Given the description of an element on the screen output the (x, y) to click on. 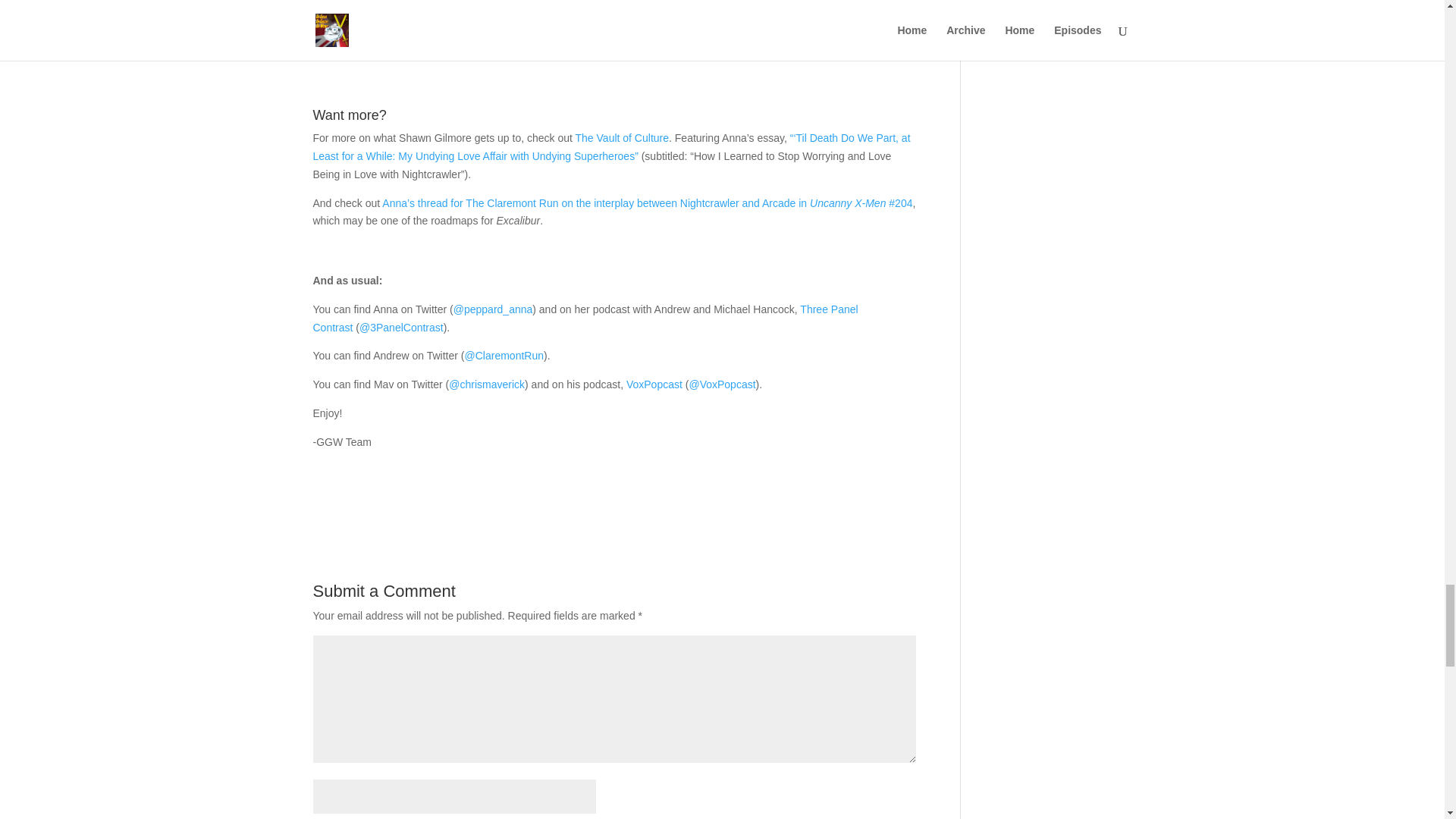
VoxPopcast (654, 384)
The Vault of Culture (621, 137)
Three Panel Contrast (585, 318)
